Given the description of an element on the screen output the (x, y) to click on. 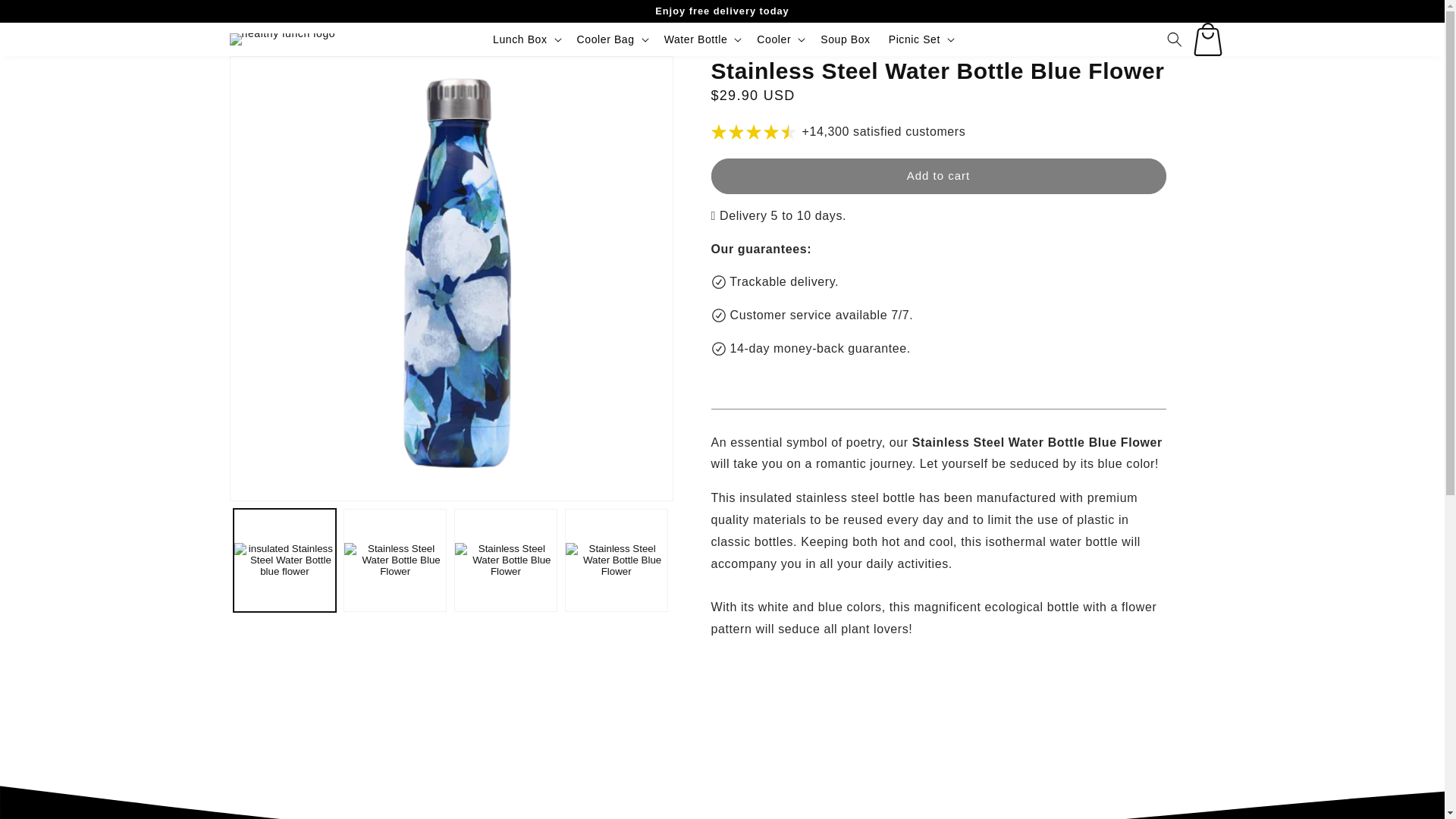
Skip to content (45, 17)
